Given the description of an element on the screen output the (x, y) to click on. 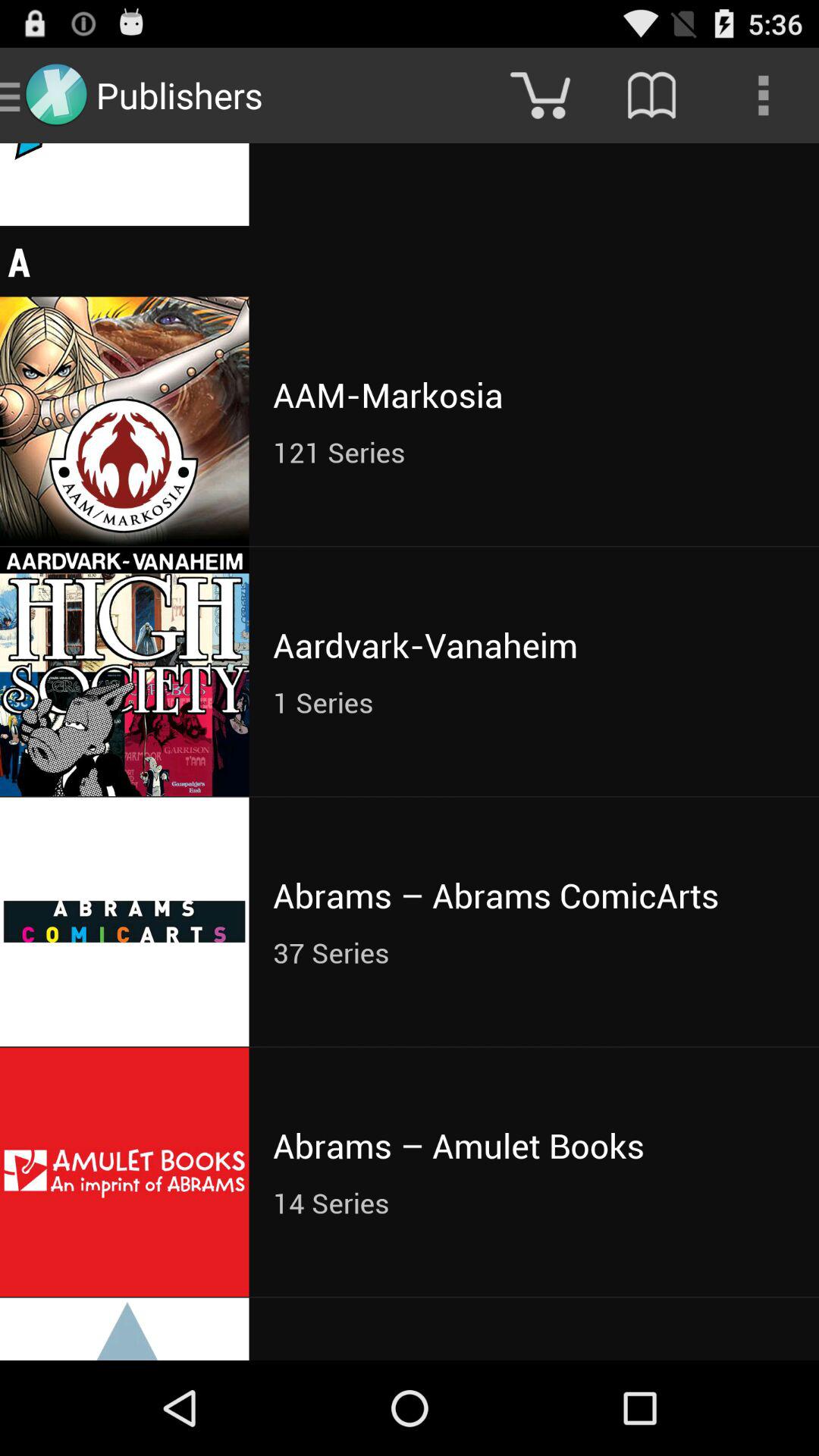
open the icon below the 37 series item (534, 1145)
